Given the description of an element on the screen output the (x, y) to click on. 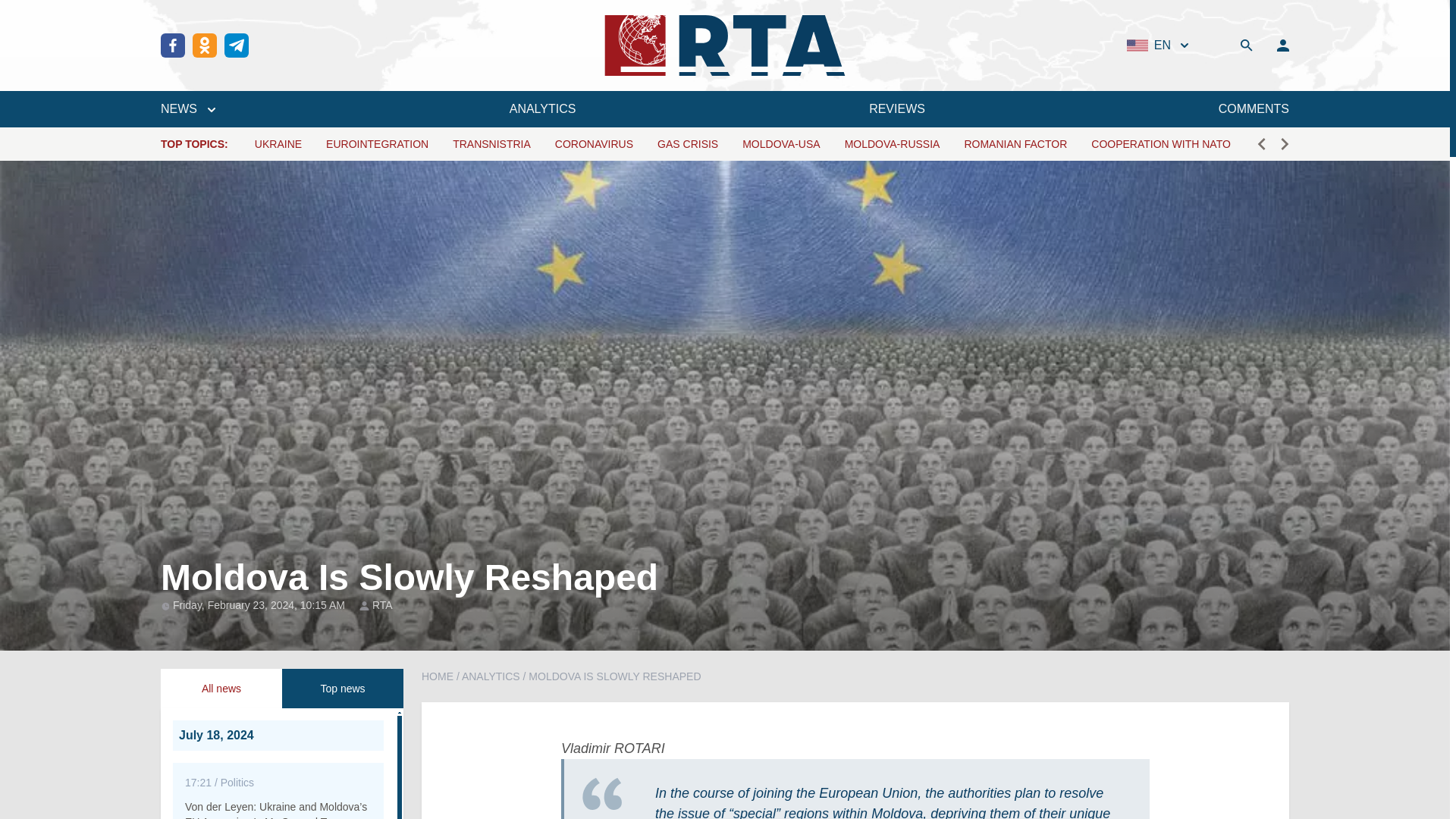
REVIEWS (896, 108)
UKRAINE (277, 143)
ANALYTICS (542, 108)
GAS CRISIS (687, 143)
All news (221, 688)
MOLDOVA-RUSSIA (892, 143)
NEWS (187, 108)
Friday, February 23, 2024, 10:15 AM (260, 604)
COOPERATION WITH NATO (1160, 143)
MOLDOVA-USA (780, 143)
CORONAVIRUS (593, 143)
Top news (342, 688)
COMMENTS (1253, 108)
ROMANIAN FACTOR (1015, 143)
